Given the description of an element on the screen output the (x, y) to click on. 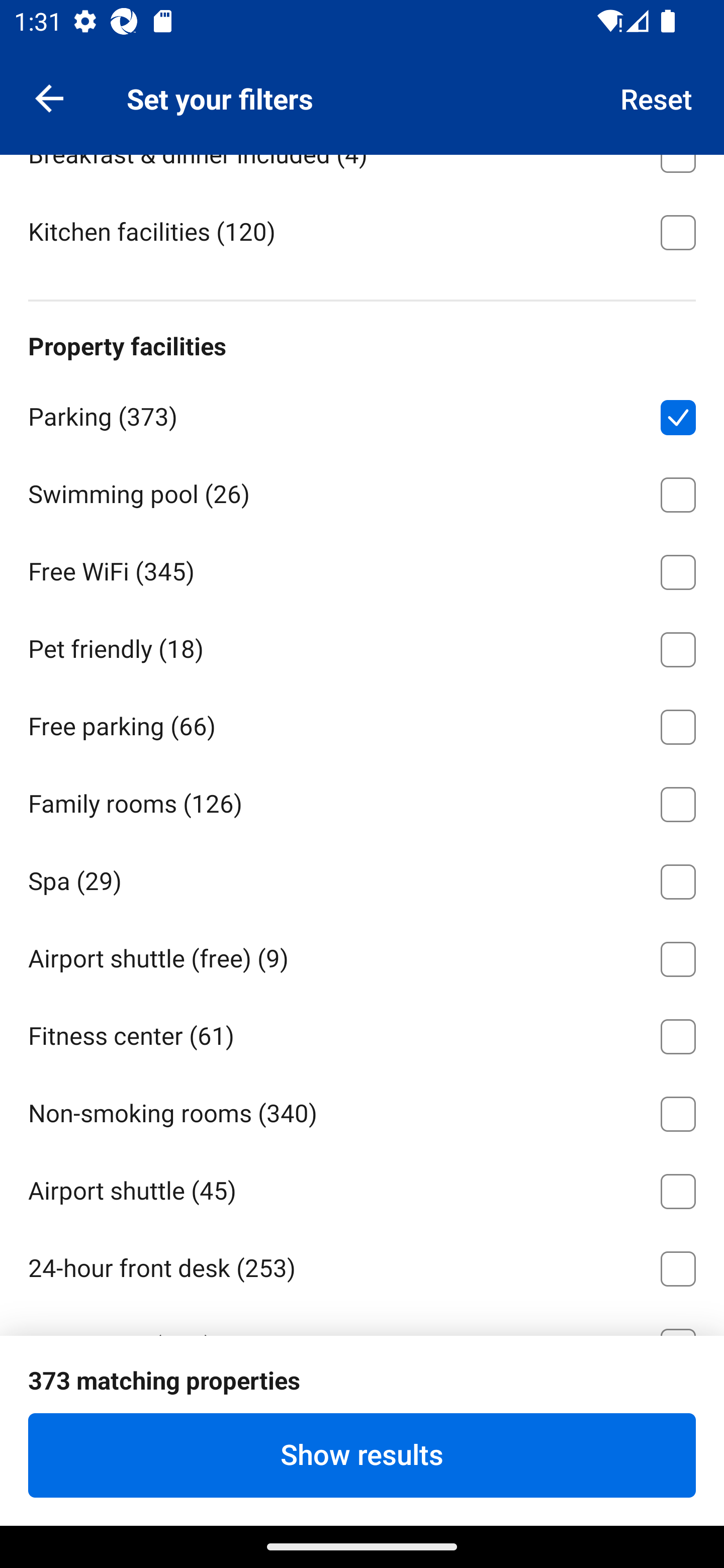
Breakfast Included ⁦(216) (361, 74)
Navigate up (49, 97)
Reset (656, 97)
Kitchen facilities ⁦(120) (361, 230)
Parking ⁦(373) (361, 413)
Swimming pool ⁦(26) (361, 491)
Free WiFi ⁦(345) (361, 568)
Pet friendly ⁦(18) (361, 646)
Free parking ⁦(66) (361, 723)
Family rooms ⁦(126) (361, 801)
Spa ⁦(29) (361, 878)
Airport shuttle (free) ⁦(9) (361, 955)
Fitness center ⁦(61) (361, 1033)
Non-smoking rooms ⁦(340) (361, 1110)
Airport shuttle ⁦(45) (361, 1187)
24-hour front desk ⁦(253) (361, 1265)
Show results (361, 1454)
